Given the description of an element on the screen output the (x, y) to click on. 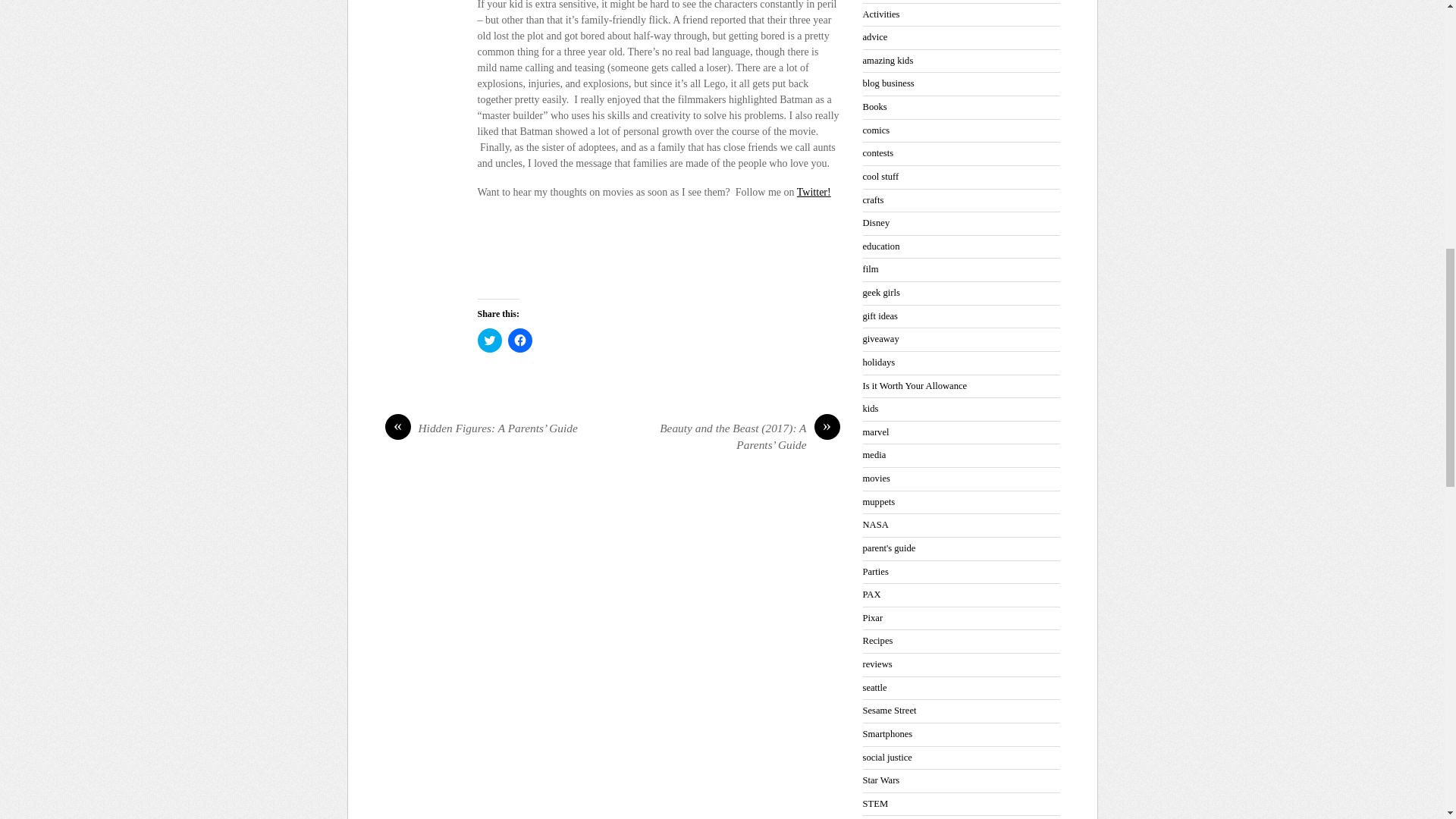
Activities (881, 14)
comics (876, 130)
blog business (888, 82)
Books (874, 106)
Twitter! (813, 192)
Click to share on Twitter (489, 340)
advice (875, 36)
Click to share on Facebook (520, 340)
amazing kids (888, 60)
